Given the description of an element on the screen output the (x, y) to click on. 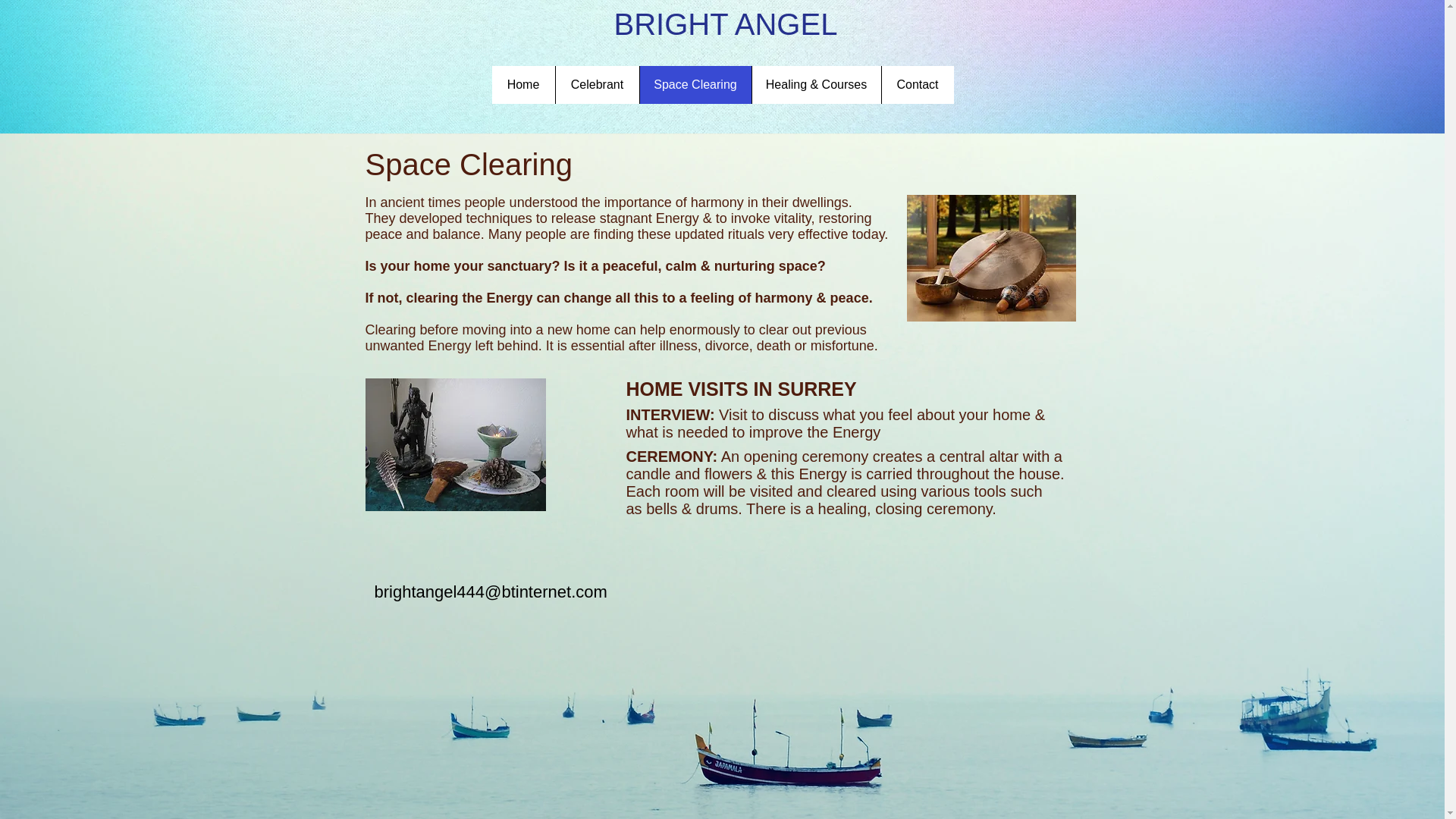
Space Clearing (695, 85)
Contact (916, 85)
Celebrant (596, 85)
Home (523, 85)
